Given the description of an element on the screen output the (x, y) to click on. 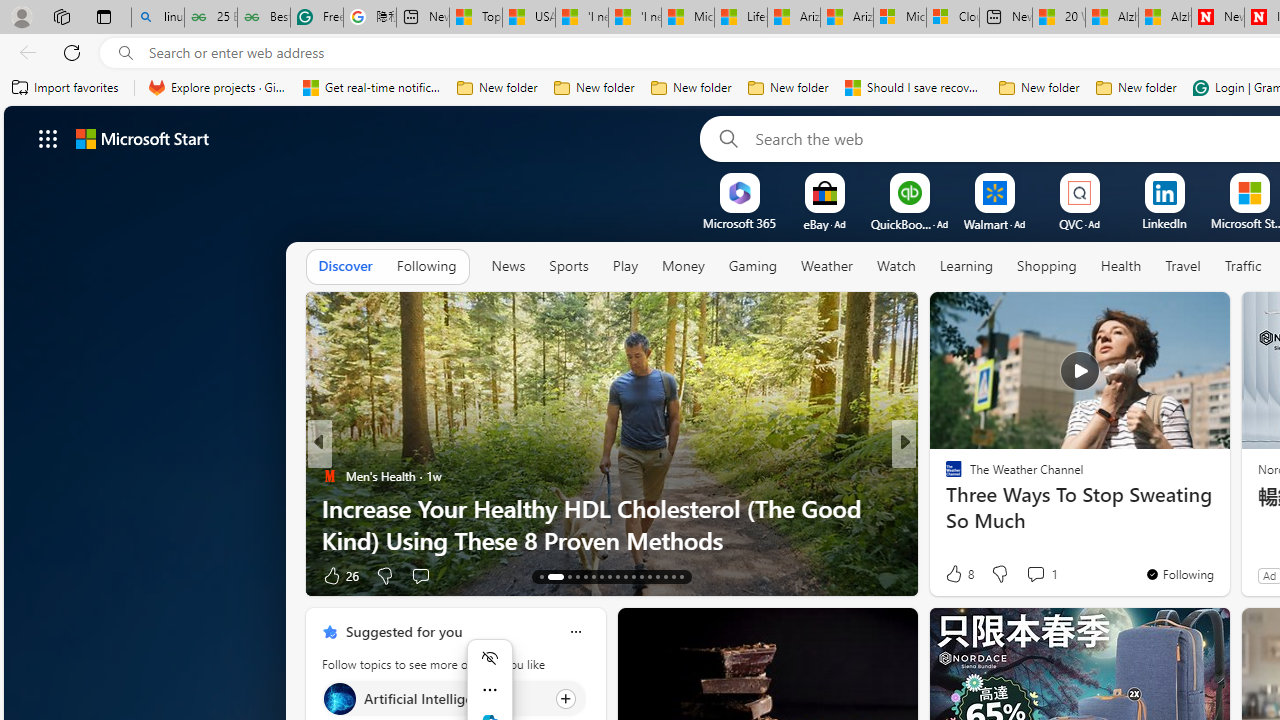
Traffic (1243, 265)
View comments 1 Comment (1035, 573)
Learning (965, 265)
25 Basic Linux Commands For Beginners - GeeksforGeeks (210, 17)
Outdoor Revival (944, 507)
Search icon (125, 53)
Gaming (752, 267)
Traffic (1242, 267)
AutomationID: tab-19 (600, 576)
Should I save recovered Word documents? - Microsoft Support (913, 88)
